Given the description of an element on the screen output the (x, y) to click on. 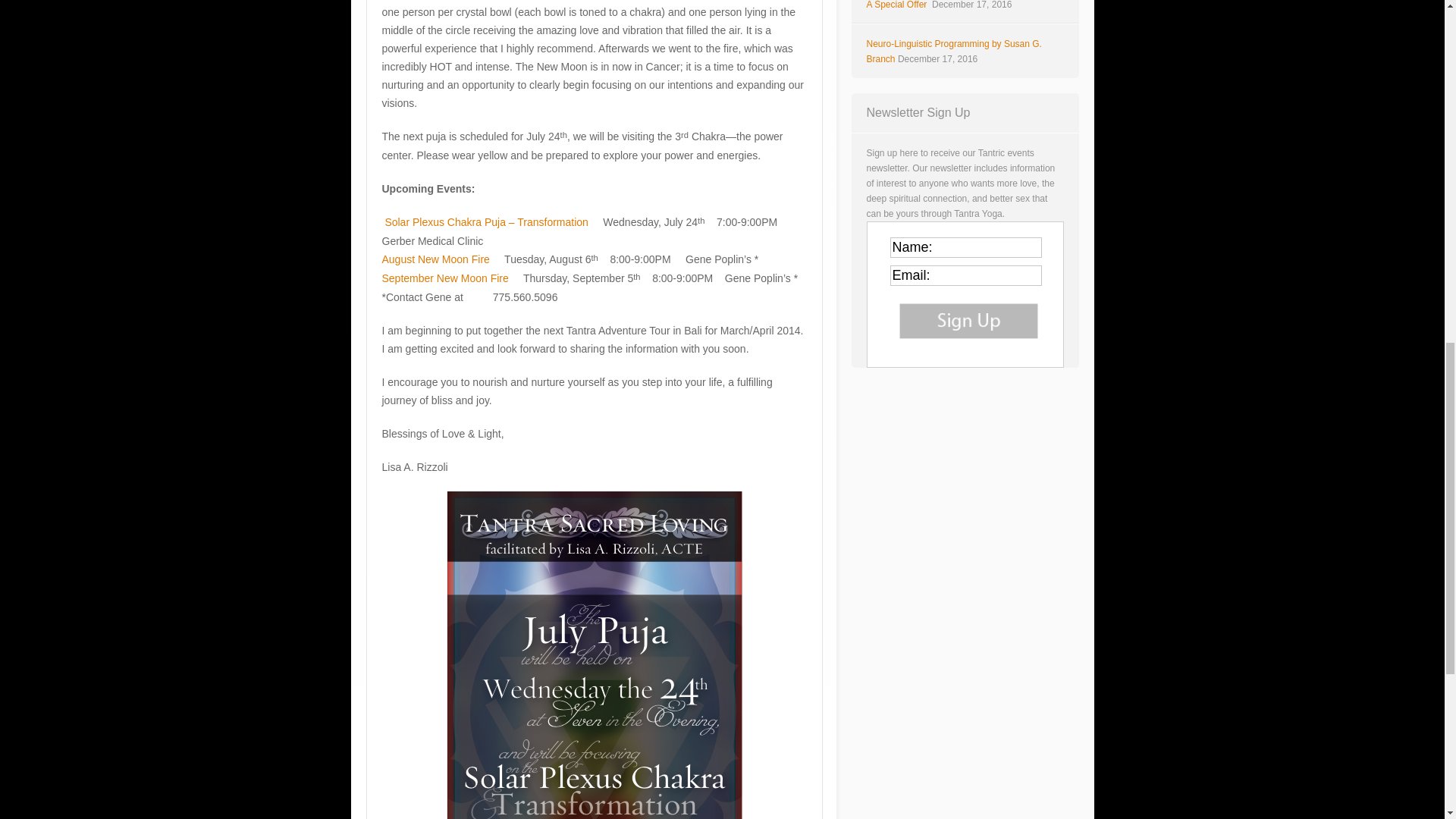
August New Moon Fire (435, 259)
August New Moon Fire (435, 259)
September New Moon Fire (444, 277)
Solar Plexus Chakra (484, 222)
A Special Offer  (897, 4)
September New Moon Fire (444, 277)
Name: (965, 247)
Email: (965, 275)
